Given the description of an element on the screen output the (x, y) to click on. 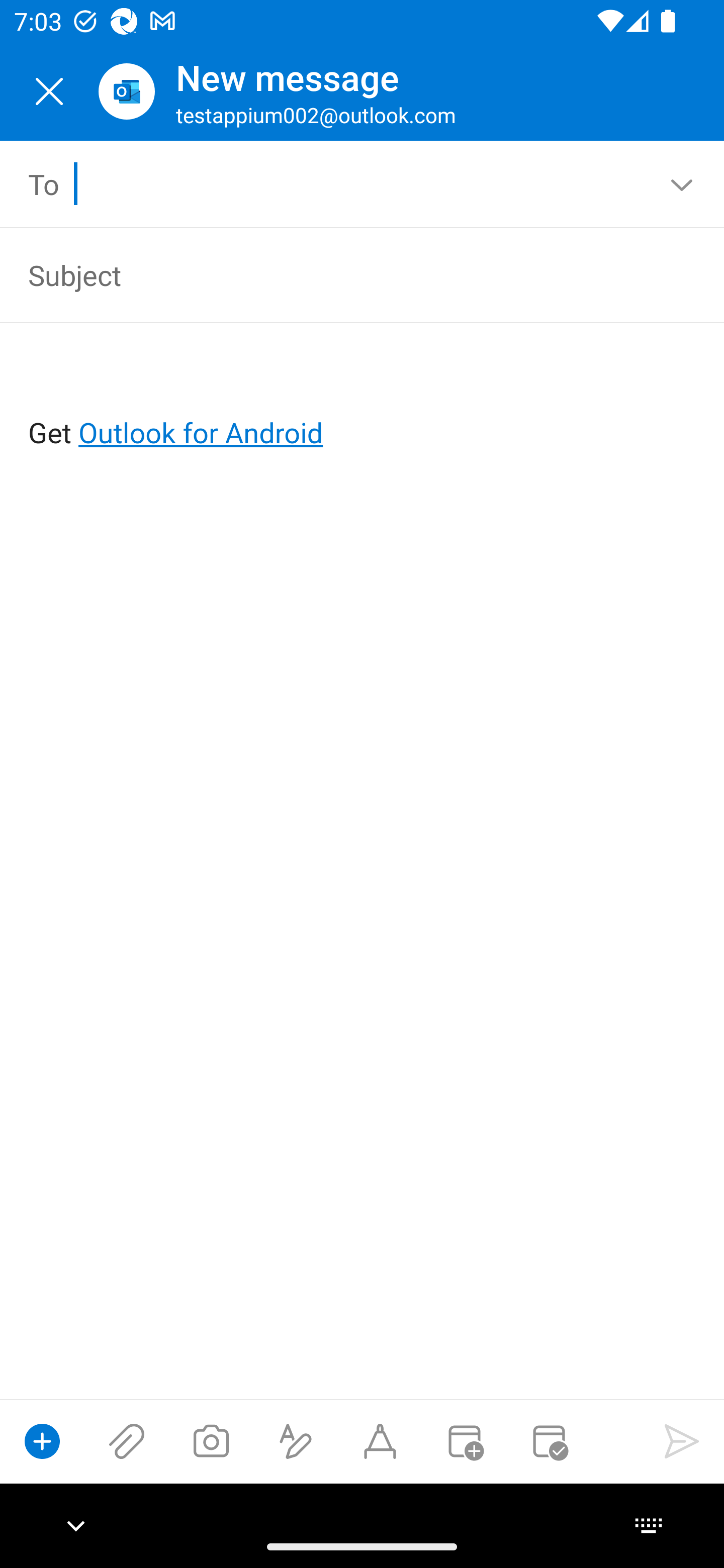
Close (49, 91)
Subject (333, 274)
Show compose options (42, 1440)
Attach files (126, 1440)
Take a photo (210, 1440)
Show formatting options (295, 1440)
Start Ink compose (380, 1440)
Convert to event (464, 1440)
Send availability (548, 1440)
Send (681, 1440)
